Given the description of an element on the screen output the (x, y) to click on. 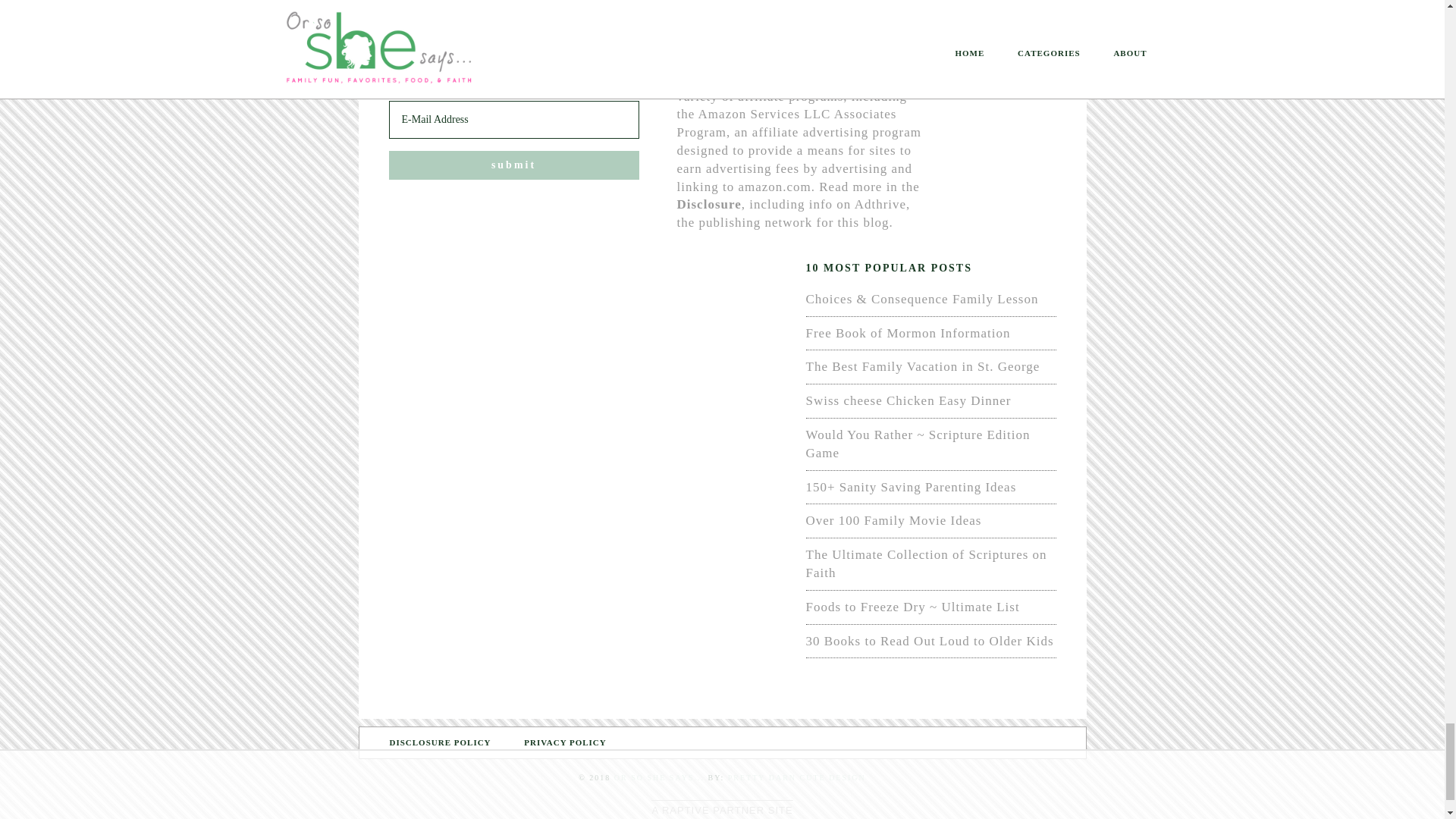
Submit (513, 164)
